Given the description of an element on the screen output the (x, y) to click on. 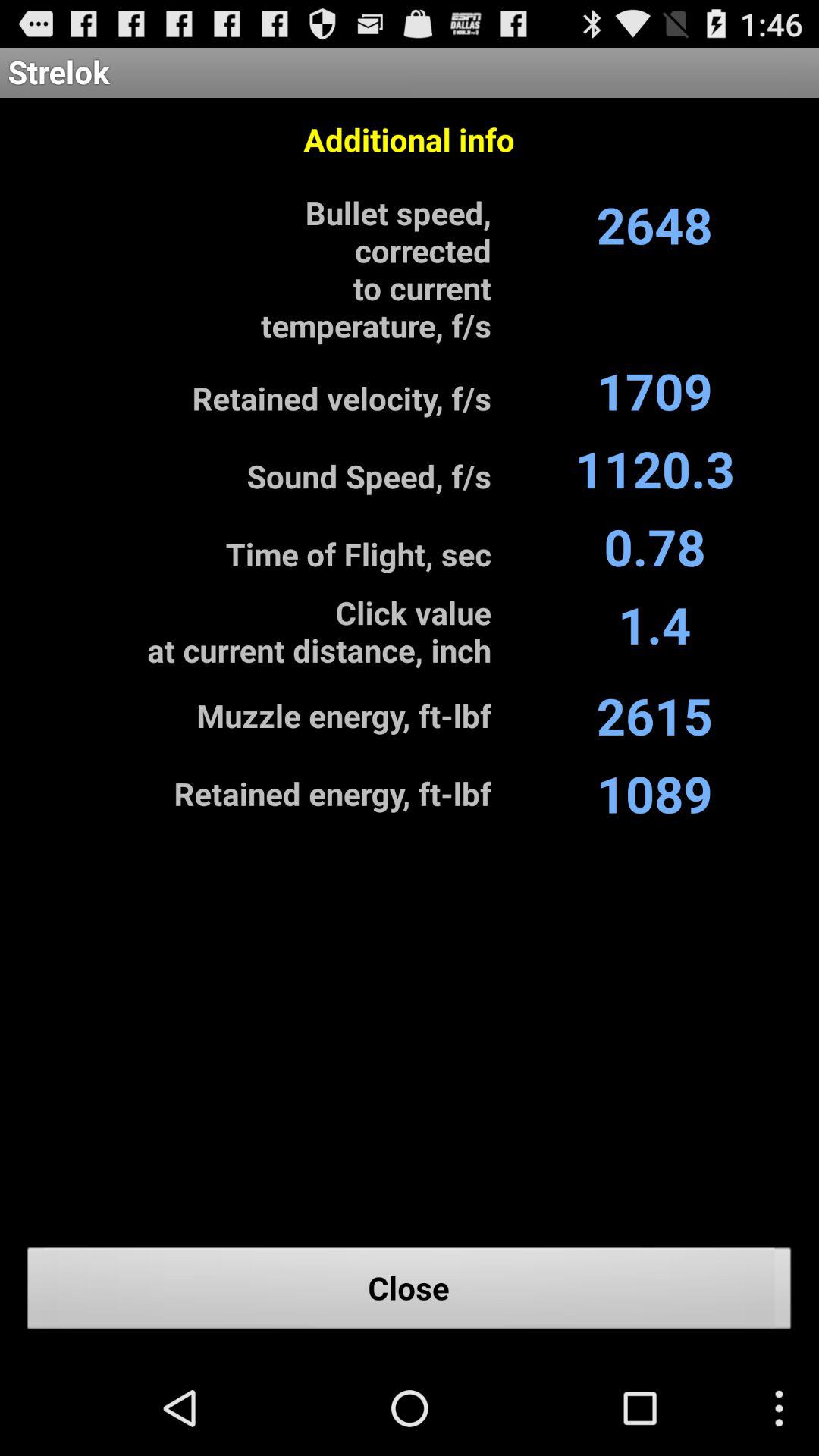
flip to the close icon (409, 1292)
